Given the description of an element on the screen output the (x, y) to click on. 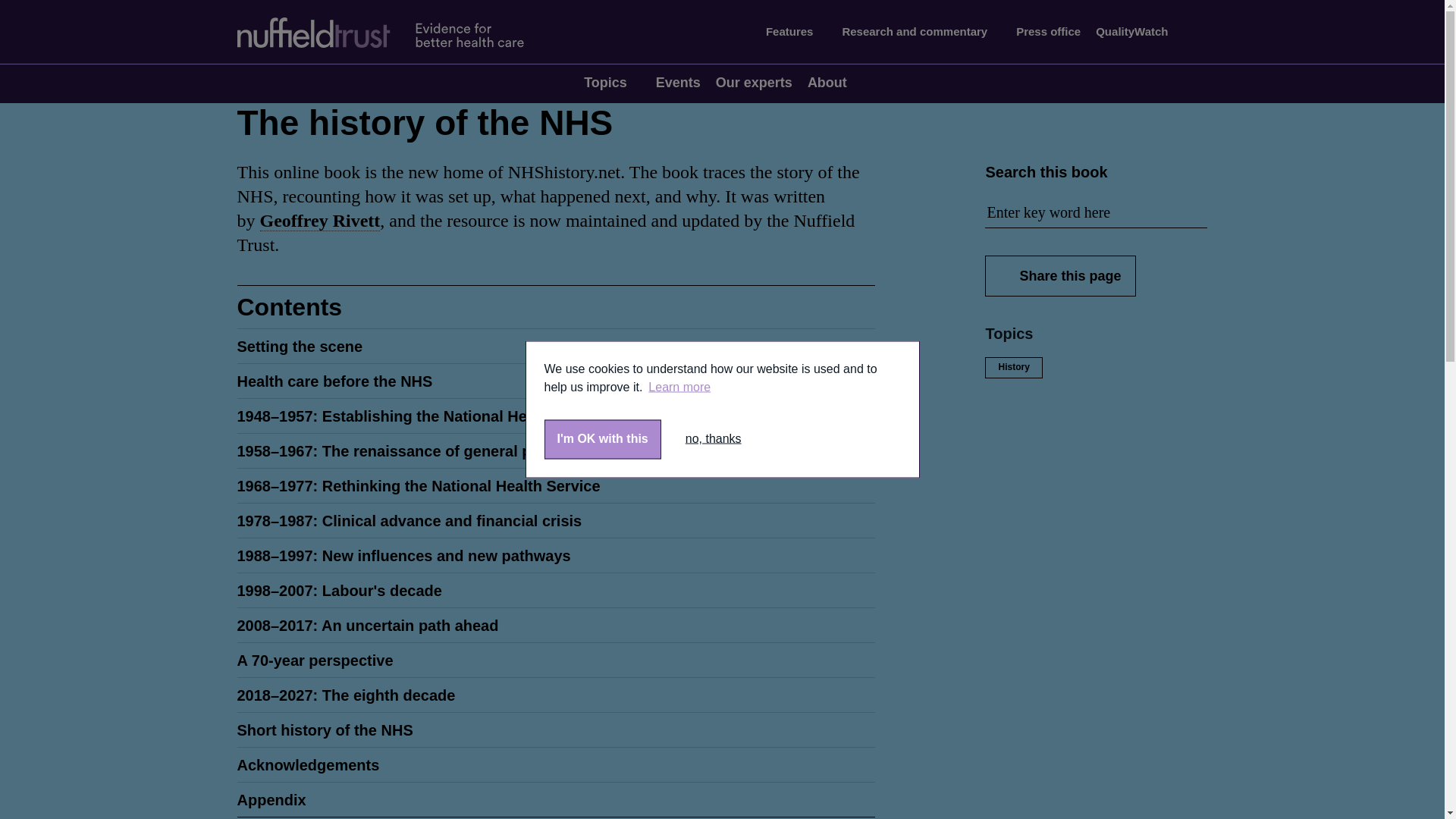
Features (796, 31)
Research and commentary (921, 31)
View all History content (1013, 367)
Return to the homepage (393, 32)
